Given the description of an element on the screen output the (x, y) to click on. 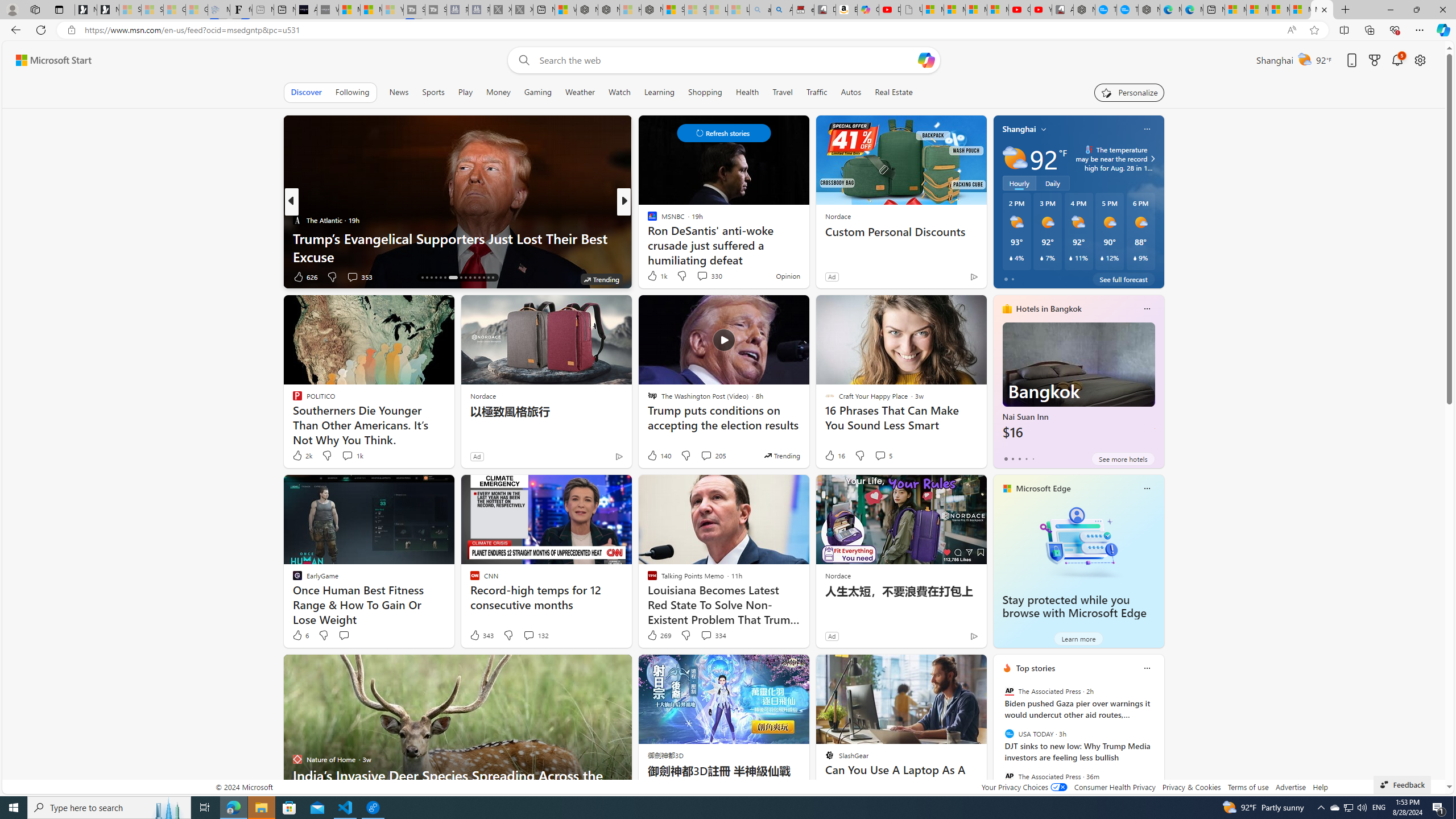
Dangerous heat to head to Northeast after slamming Midwest (807, 247)
Stay protected while you browse with Microsoft Edge (1077, 541)
View comments 152 Comment (6, 276)
Shopping (705, 92)
Feedback (1402, 784)
AutomationID: tab-23 (460, 277)
The most popular Google 'how to' searches (1127, 9)
View comments 96 Comment (707, 276)
Microsoft account | Privacy (1300, 9)
Stay protected while you browse with Microsoft Edge (1074, 606)
